Given the description of an element on the screen output the (x, y) to click on. 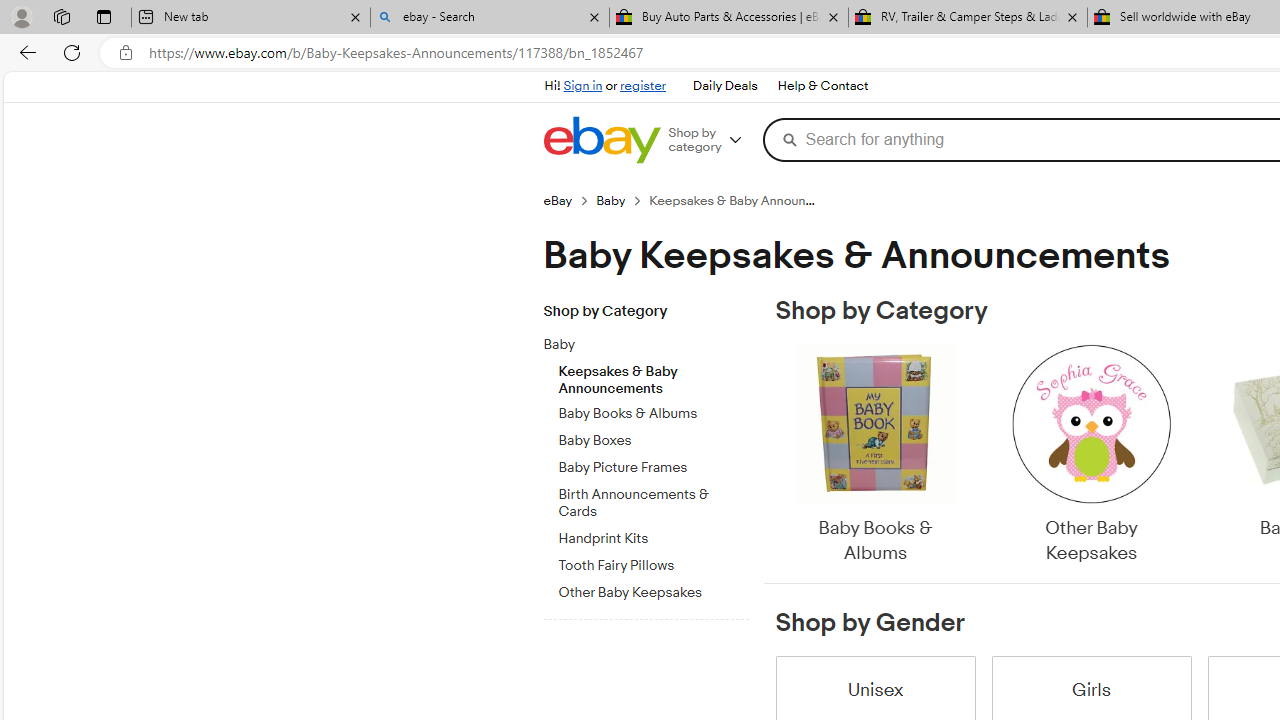
Sign in (582, 85)
Handprint Kits (653, 538)
eBay (557, 200)
eBay Home (601, 139)
Tooth Fairy Pillows (653, 566)
Baby Books & Albums (874, 455)
Daily Deals (724, 86)
Keepsakes & Baby Announcements (653, 375)
RV, Trailer & Camper Steps & Ladders for sale | eBay (967, 17)
Birth Announcements & Cards (653, 500)
